Given the description of an element on the screen output the (x, y) to click on. 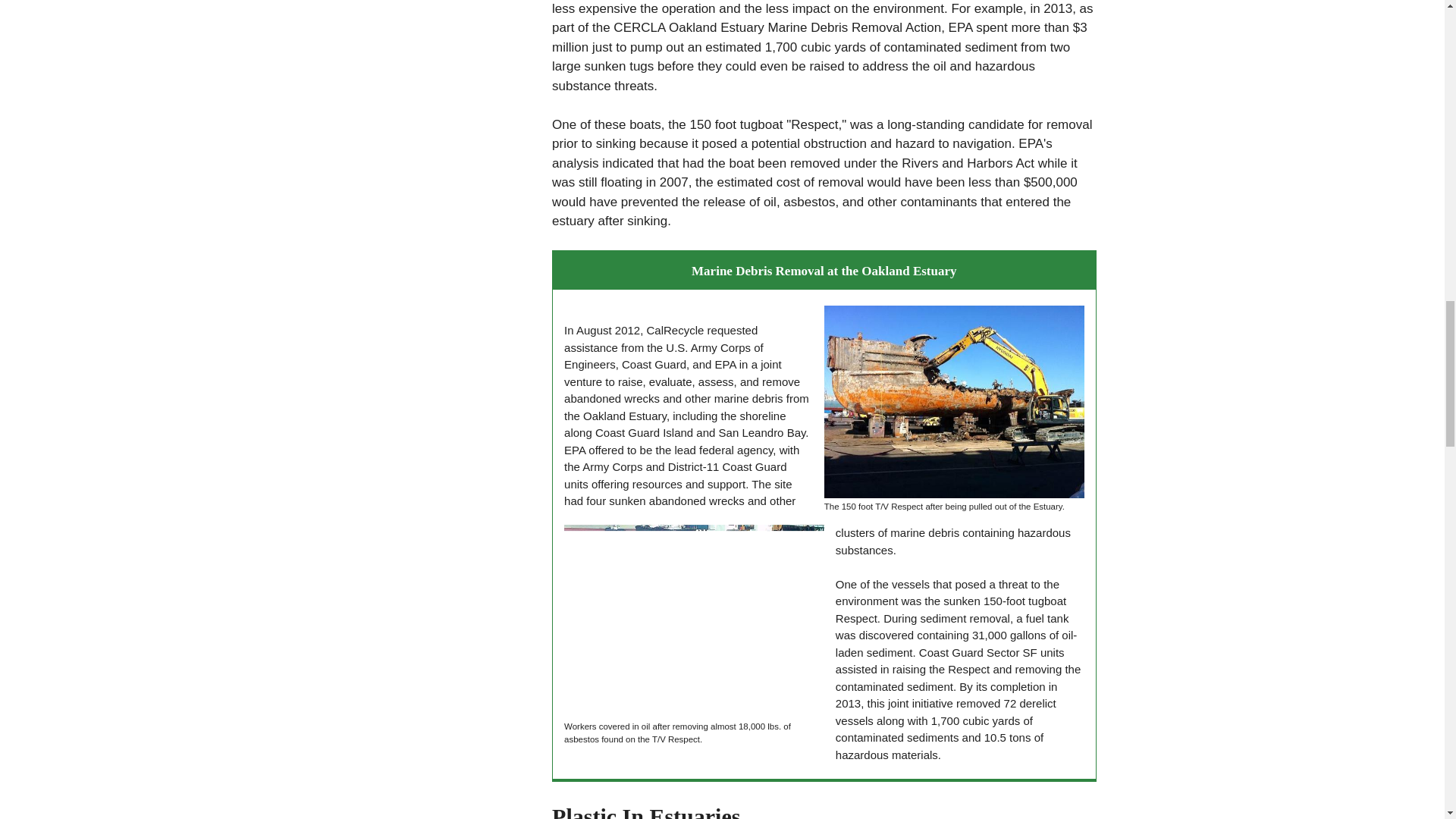
Click to enlarge (954, 401)
Click to enlarge (694, 620)
